Given the description of an element on the screen output the (x, y) to click on. 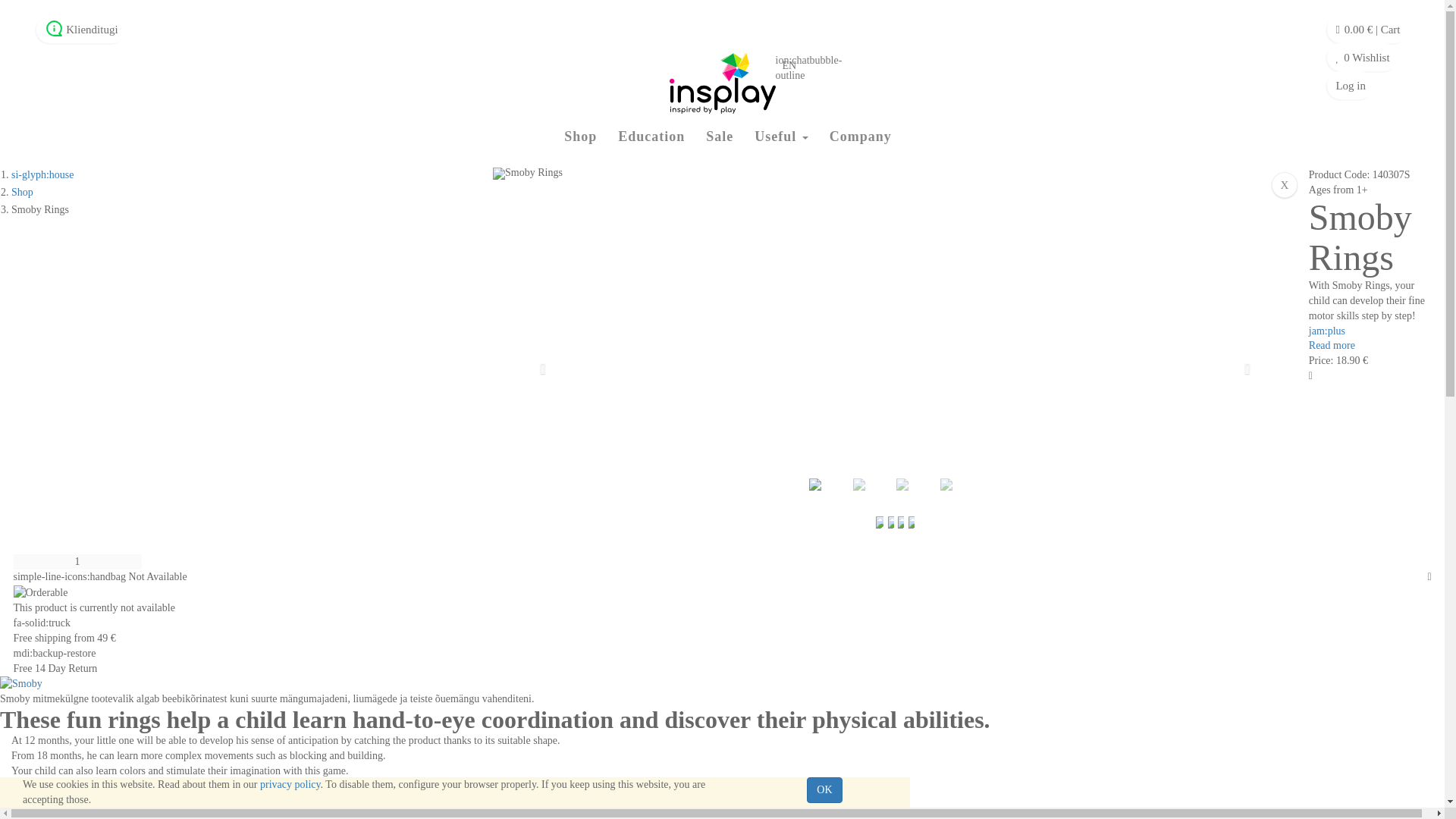
privacy policy (290, 784)
Company (860, 137)
1 (77, 561)
Klienditugi (91, 29)
Not Available (100, 576)
OK (823, 790)
Education (651, 137)
Useful (781, 137)
Sale (719, 137)
Shop (22, 192)
